Given the description of an element on the screen output the (x, y) to click on. 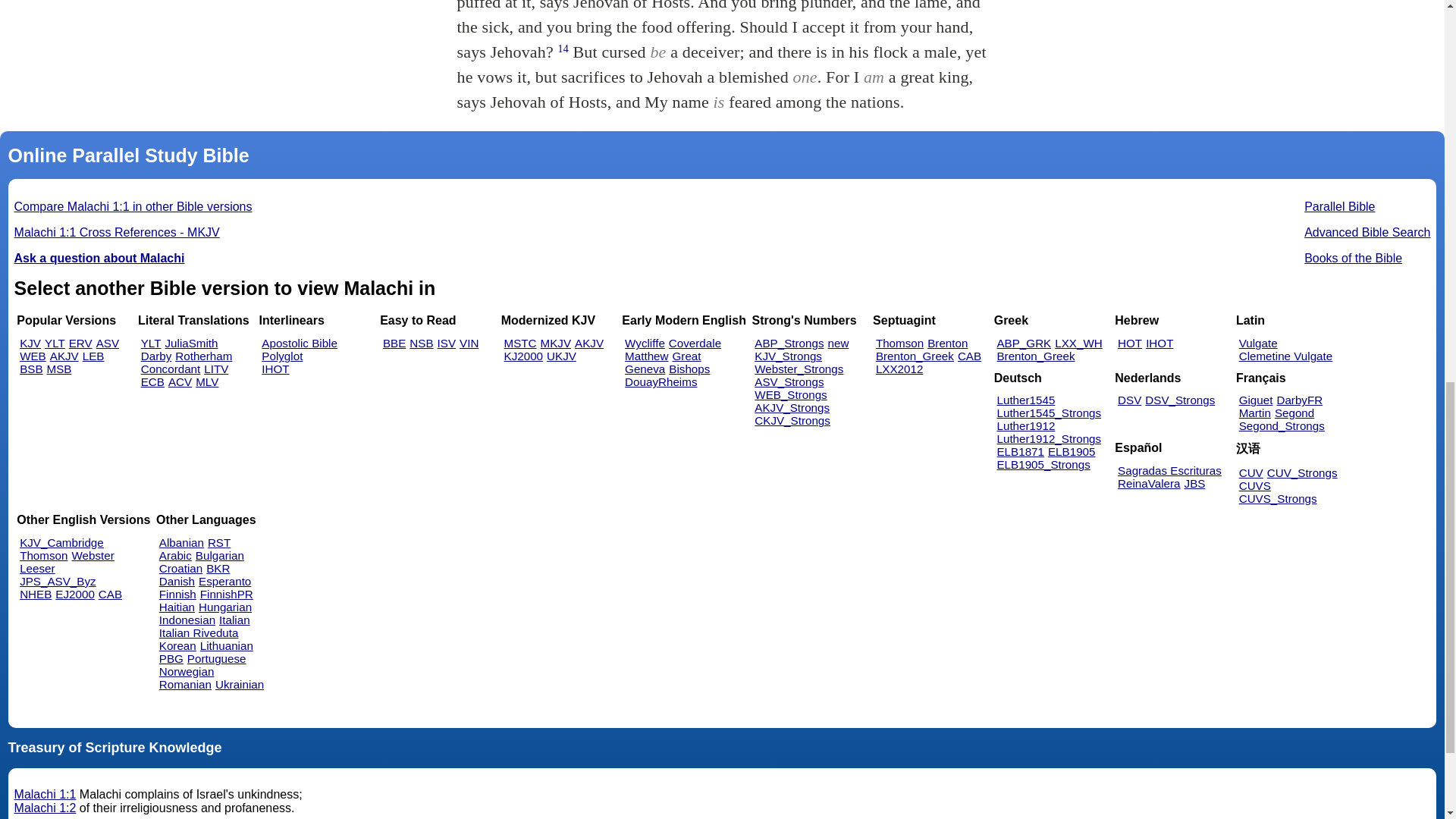
American Standard Version (107, 342)
King James Version (30, 342)
YLT (151, 342)
English Revised Version (80, 342)
Young's Literal Translation (55, 342)
Malachi 1:1 Cross References - MKJV (116, 232)
Ask a question about Malachi (99, 257)
14 (562, 48)
WEB (33, 355)
Compare Malachi 1:1 in other Bible versions (132, 205)
ASV (107, 342)
Darby (156, 355)
Rotherham (202, 355)
LITV (215, 368)
Advanced Bible Search (1366, 232)
